Given the description of an element on the screen output the (x, y) to click on. 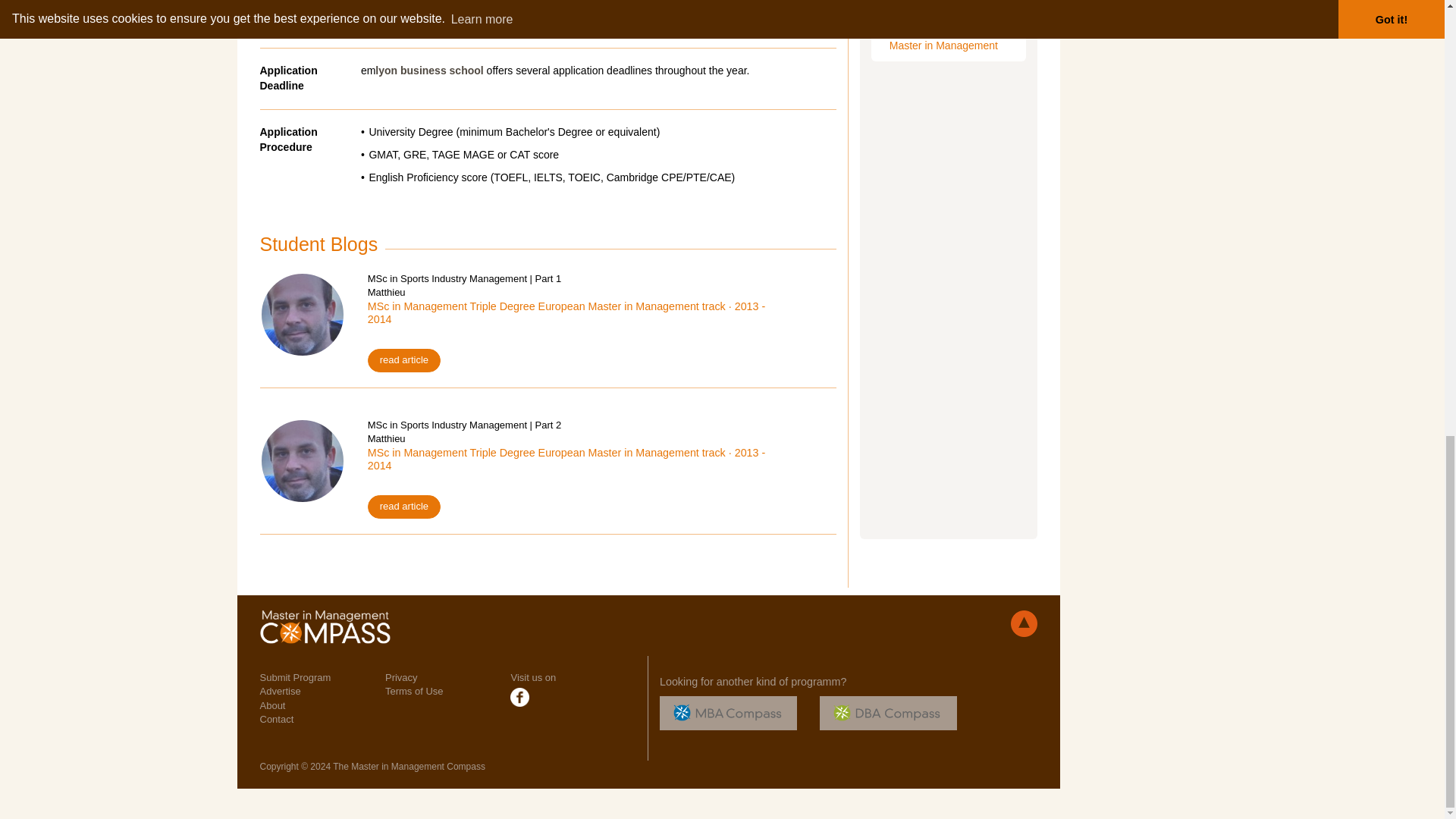
read article (404, 360)
read article (404, 506)
Student Blogs (318, 243)
